Given the description of an element on the screen output the (x, y) to click on. 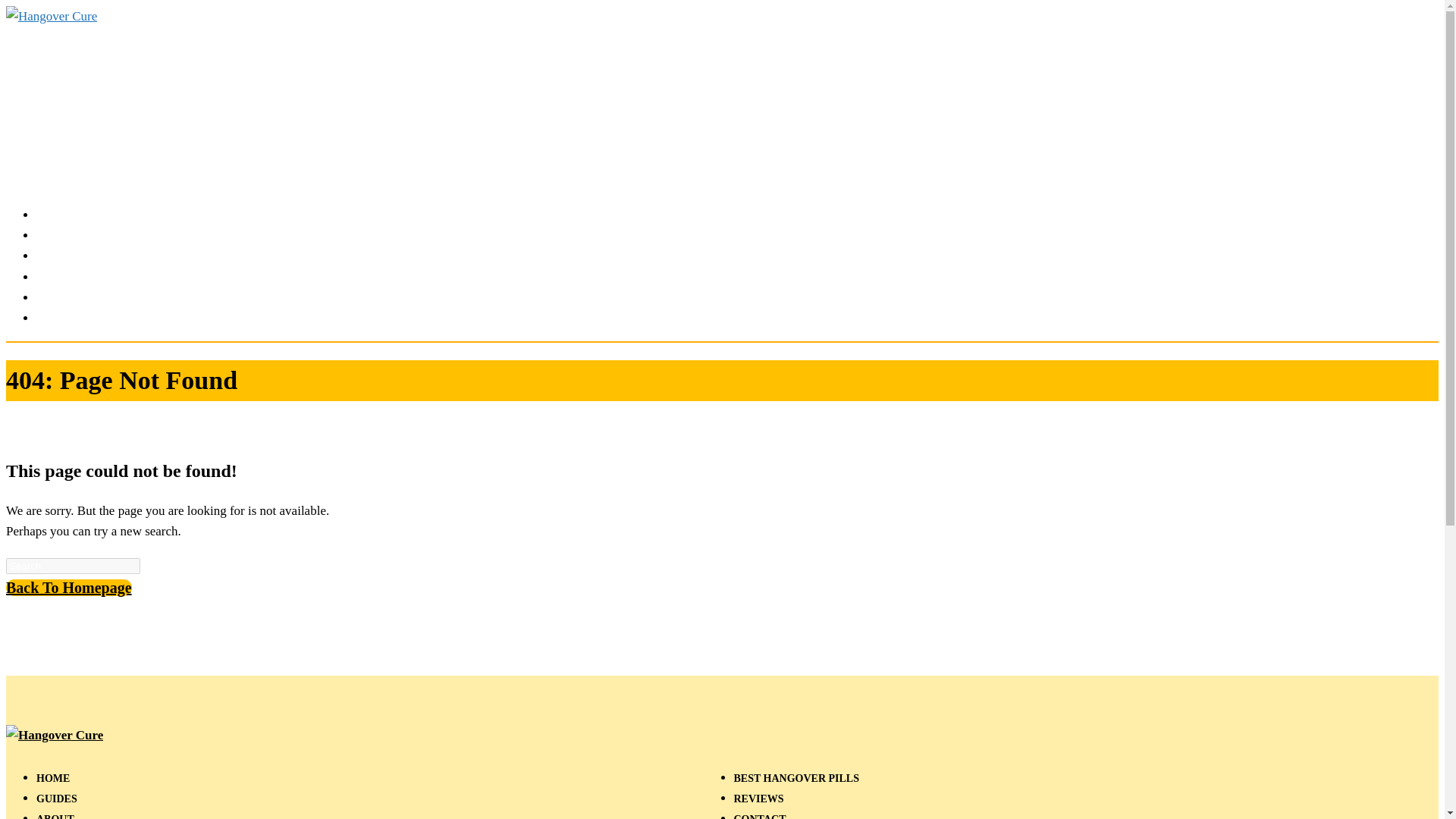
Back To Homepage (68, 587)
HOME (52, 778)
REVIEWS (758, 798)
GUIDES (56, 798)
CONTACT (759, 816)
BEST HANGOVER PILLS (796, 778)
ABOUT (55, 816)
